Given the description of an element on the screen output the (x, y) to click on. 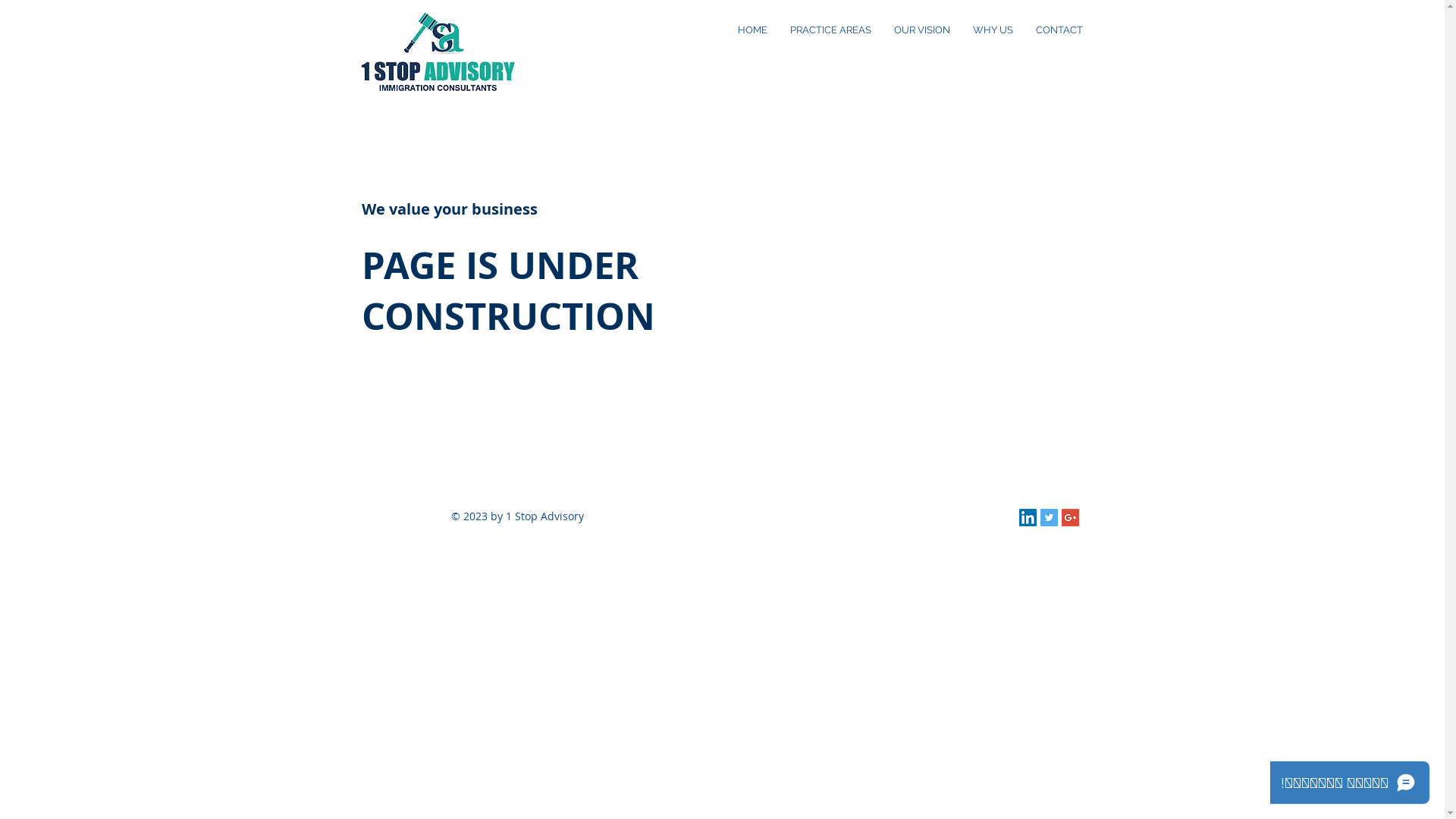
PRACTICE AREAS Element type: text (829, 29)
HOME Element type: text (752, 29)
OUR VISION Element type: text (921, 29)
CONTACT Element type: text (1058, 29)
WHY US Element type: text (992, 29)
